Given the description of an element on the screen output the (x, y) to click on. 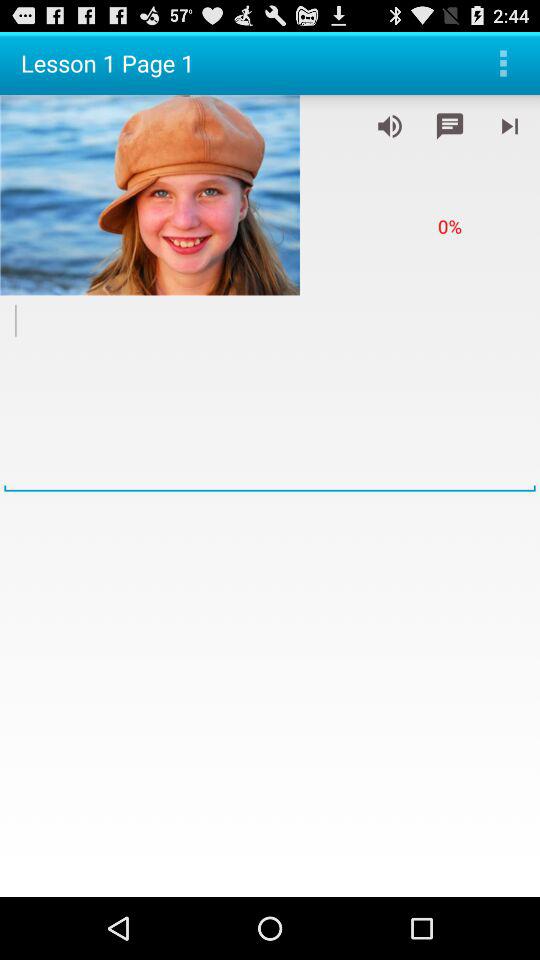
go to next (510, 125)
